Given the description of an element on the screen output the (x, y) to click on. 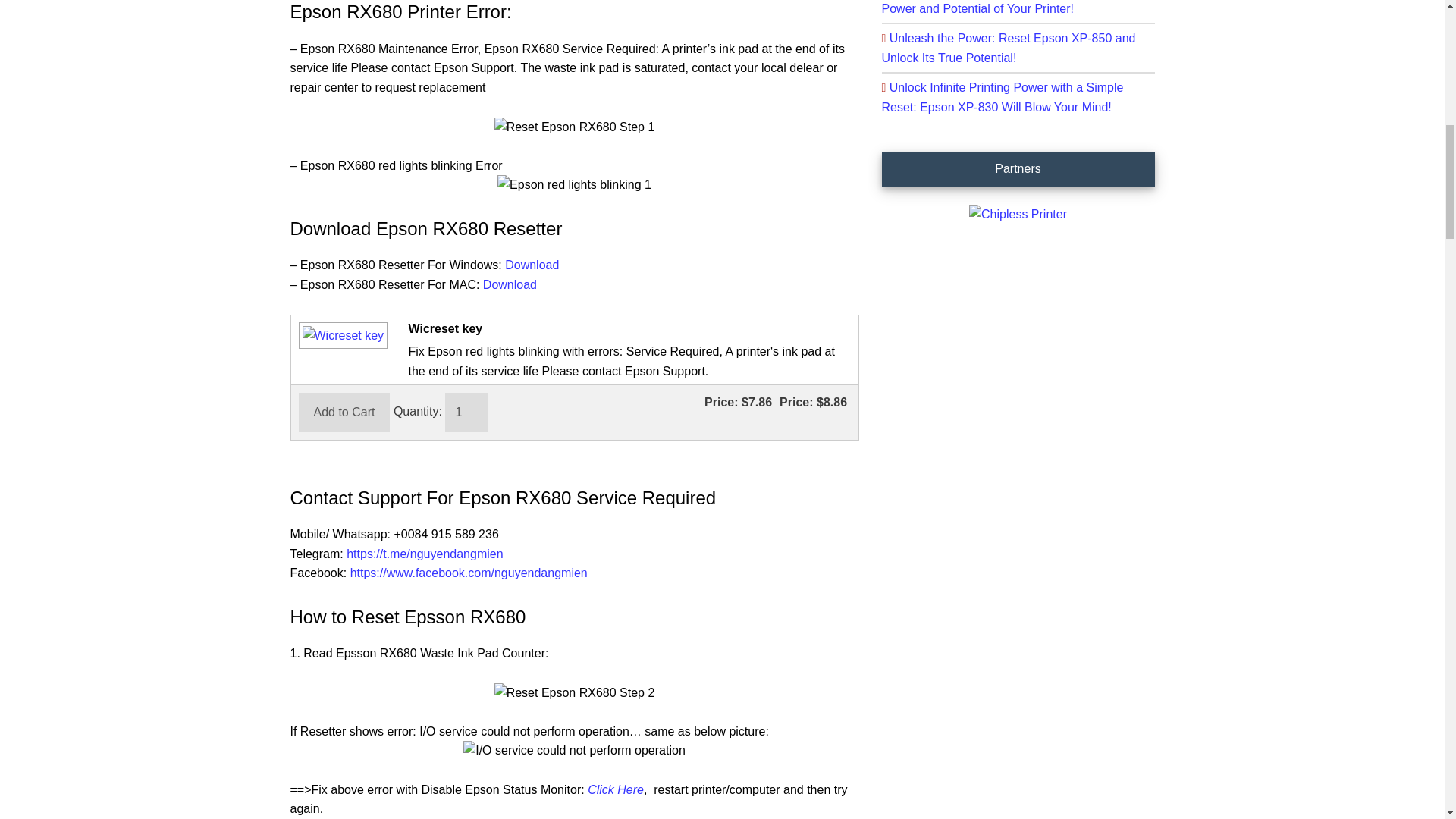
Add to Cart (344, 412)
1 (466, 412)
Reset Epson RX680 Step 2 (575, 692)
Download (532, 264)
Reset Epson RX680 Step 1 (575, 127)
Add to Cart (344, 412)
Click Here (615, 789)
Epson red lights blinking 1 (573, 184)
Wicreset key (340, 335)
Download (510, 284)
